Given the description of an element on the screen output the (x, y) to click on. 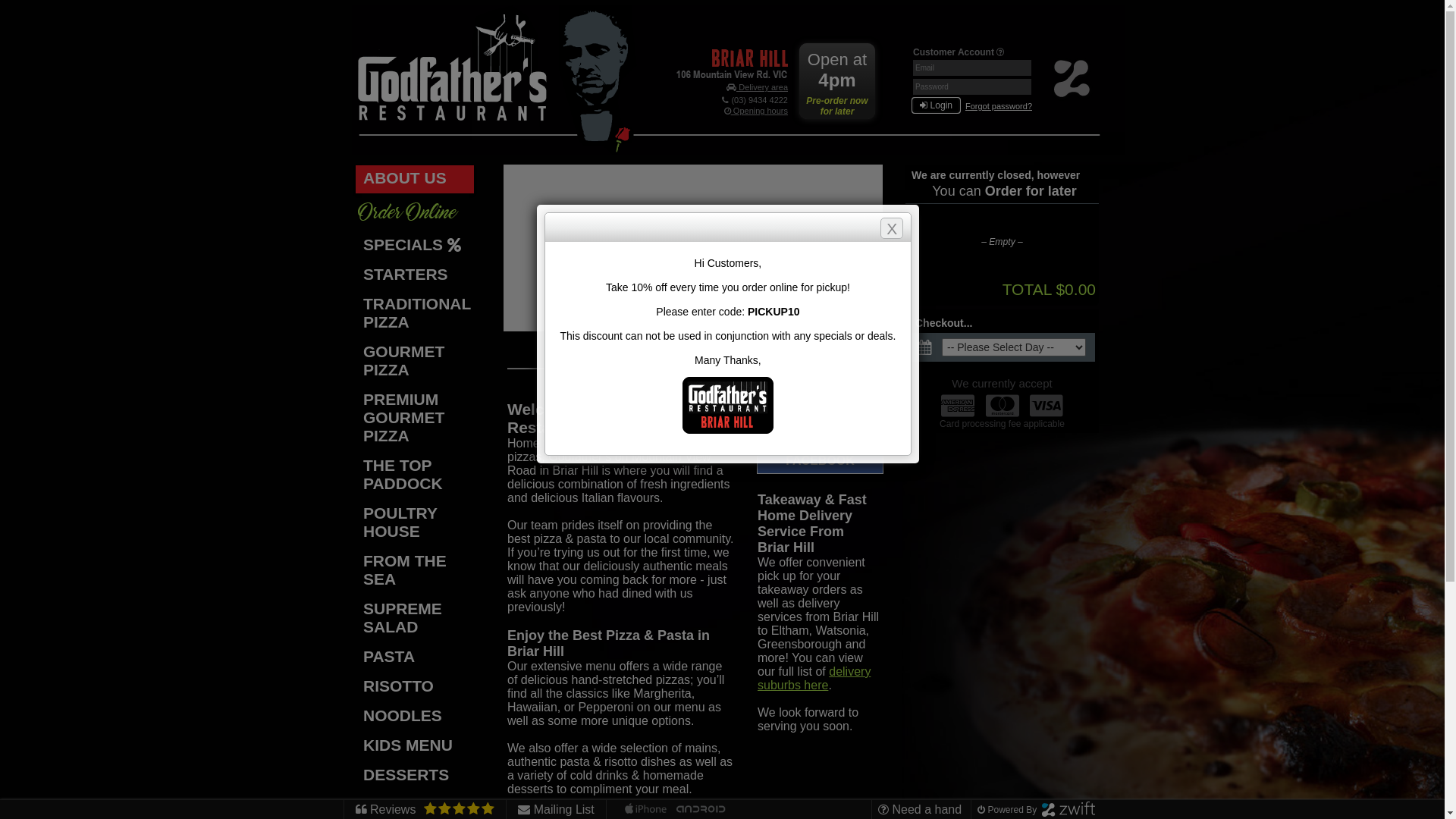
Powered By Element type: text (1034, 809)
THE TOP PADDOCK Element type: text (415, 475)
SUPREME SALAD Element type: text (415, 619)
POULTRY HOUSE Element type: text (415, 523)
FROM THE SEA Element type: text (415, 571)
DELIVERY AREA Element type: text (819, 398)
KIDS MENU Element type: text (415, 746)
GOURMET PIZZA Element type: text (415, 361)
ABOUT US Element type: text (414, 179)
Login Element type: text (936, 105)
MAILING LIST Element type: text (819, 427)
PREMIUM GOURMET PIZZA Element type: text (415, 418)
SPECIALS Element type: text (415, 246)
RISOTTO Element type: text (415, 687)
Delivery area Element type: text (756, 86)
TRADITIONAL PIZZA Element type: text (415, 314)
TRADING HOURS Element type: text (819, 369)
Mastercard Element type: hover (1002, 405)
DESSERTS Element type: text (415, 776)
NOODLES Element type: text (415, 716)
FACEBOOK Element type: text (819, 460)
STARTERS Element type: text (415, 275)
Visa Element type: hover (1046, 405)
American Express Element type: hover (957, 405)
delivery suburbs here Element type: text (813, 678)
Opening hours Element type: text (755, 110)
PASTA Element type: text (415, 657)
